Given the description of an element on the screen output the (x, y) to click on. 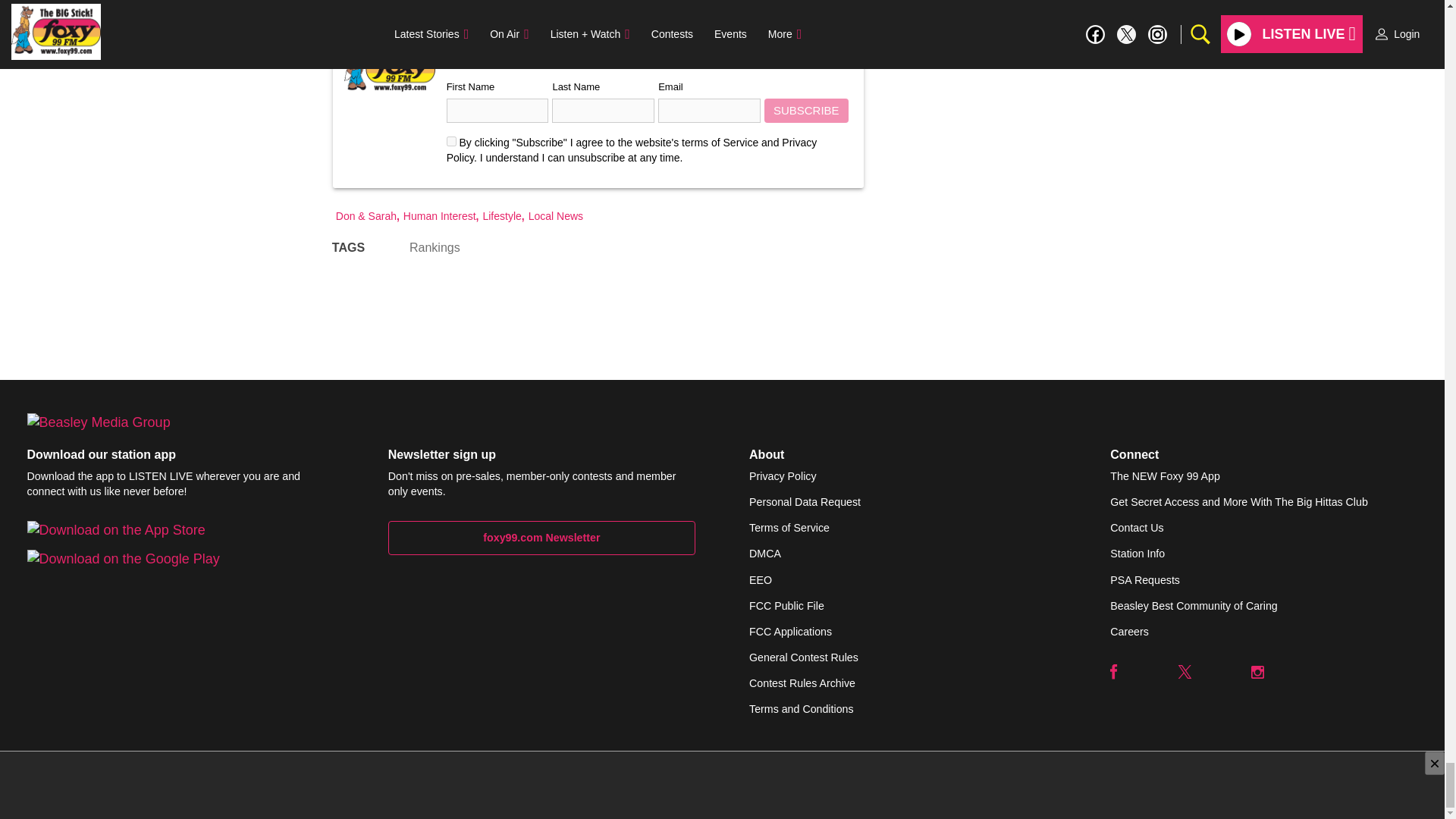
Instagram (1256, 671)
on (451, 141)
Twitter (1184, 671)
